Given the description of an element on the screen output the (x, y) to click on. 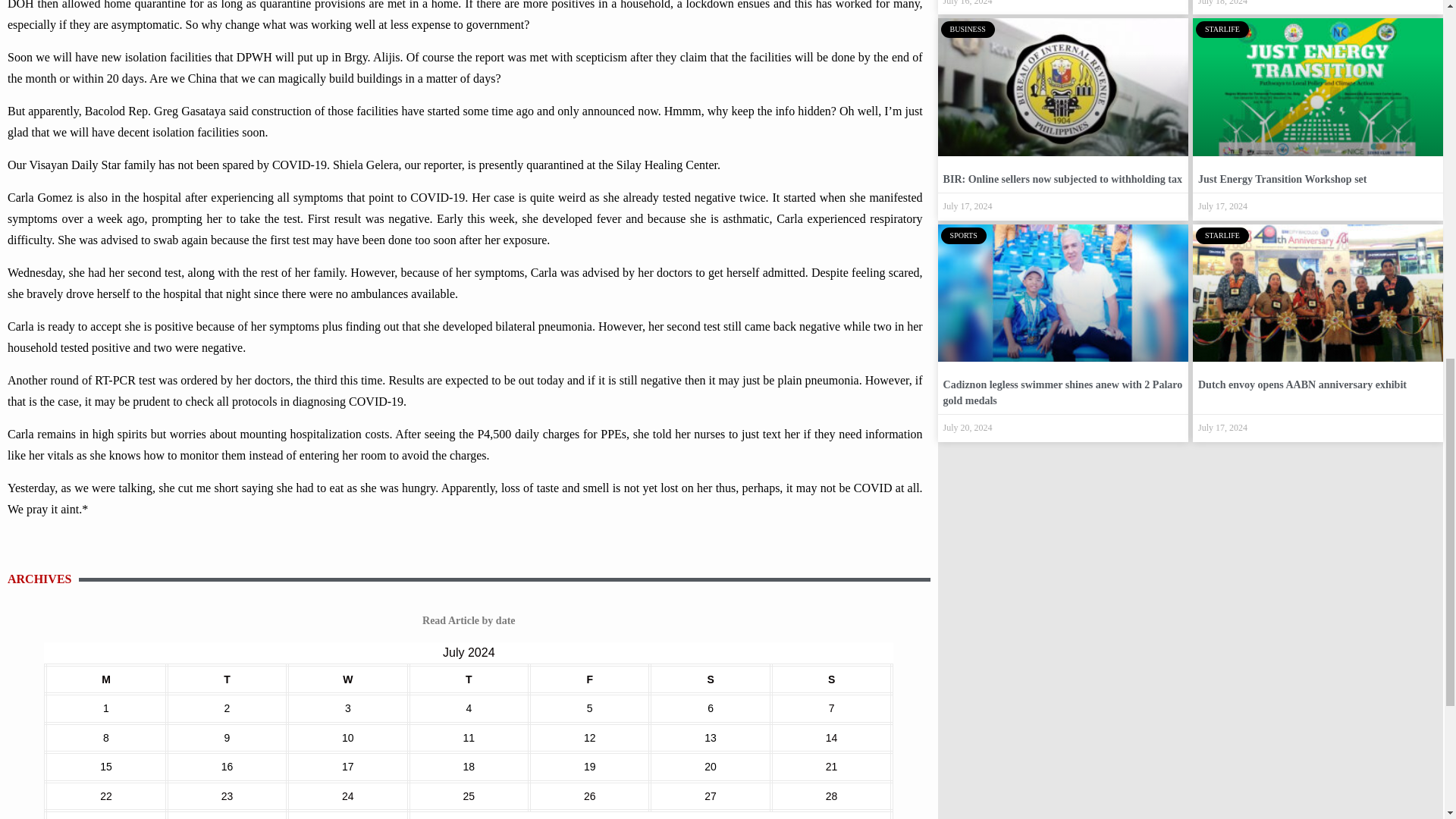
19 (589, 766)
13 (710, 737)
Thursday (469, 679)
Wednesday (346, 679)
20 (710, 766)
Monday (105, 679)
17 (347, 766)
12 (589, 737)
Saturday (709, 679)
Friday (589, 679)
18 (468, 766)
Sunday (831, 679)
16 (226, 766)
11 (468, 737)
15 (106, 766)
